Given the description of an element on the screen output the (x, y) to click on. 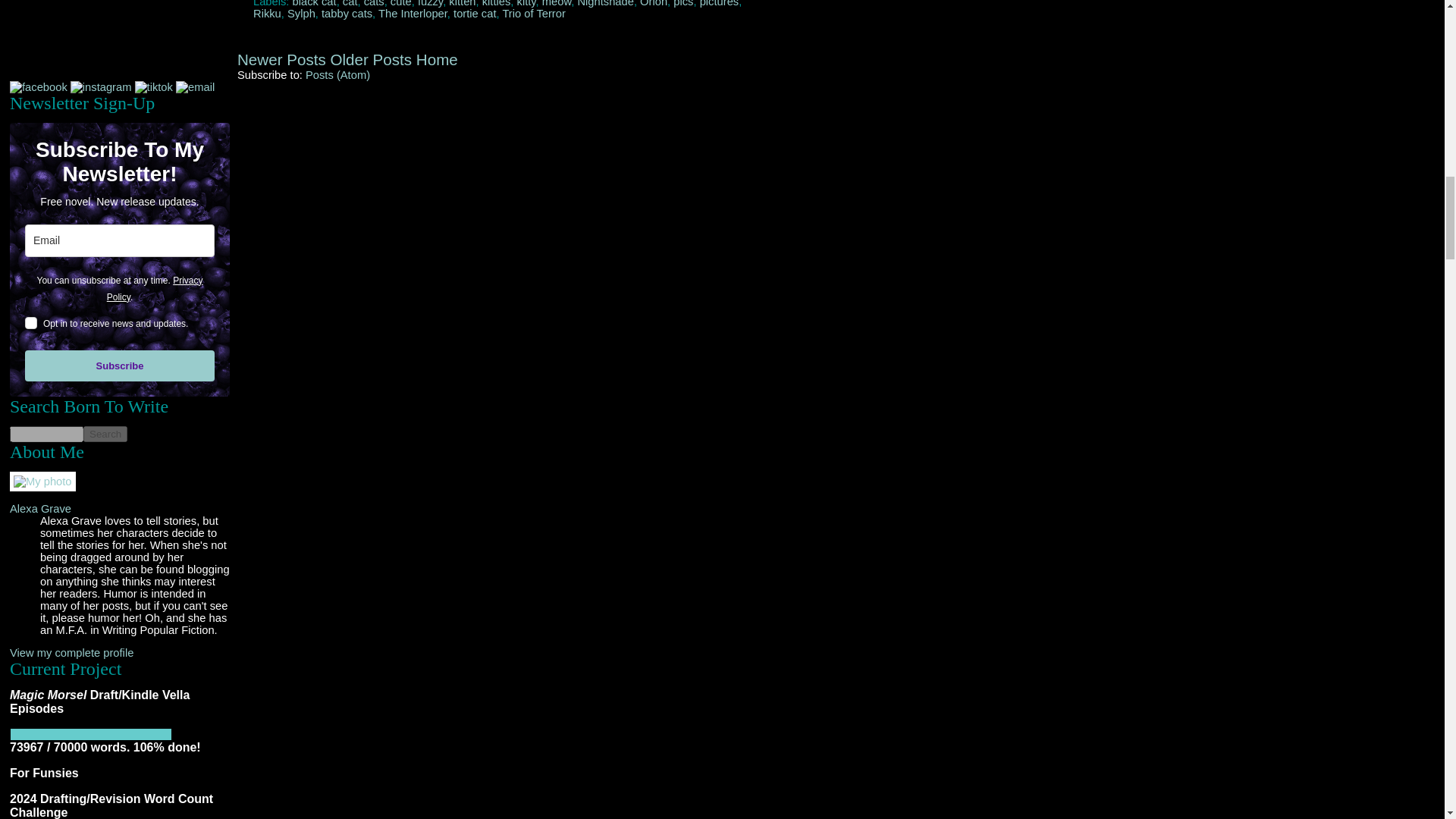
Older Posts (371, 58)
search (105, 433)
Newer Posts (281, 58)
cat (350, 3)
black cat (314, 3)
Search (105, 433)
search (46, 433)
Search (105, 433)
cats (374, 3)
